Given the description of an element on the screen output the (x, y) to click on. 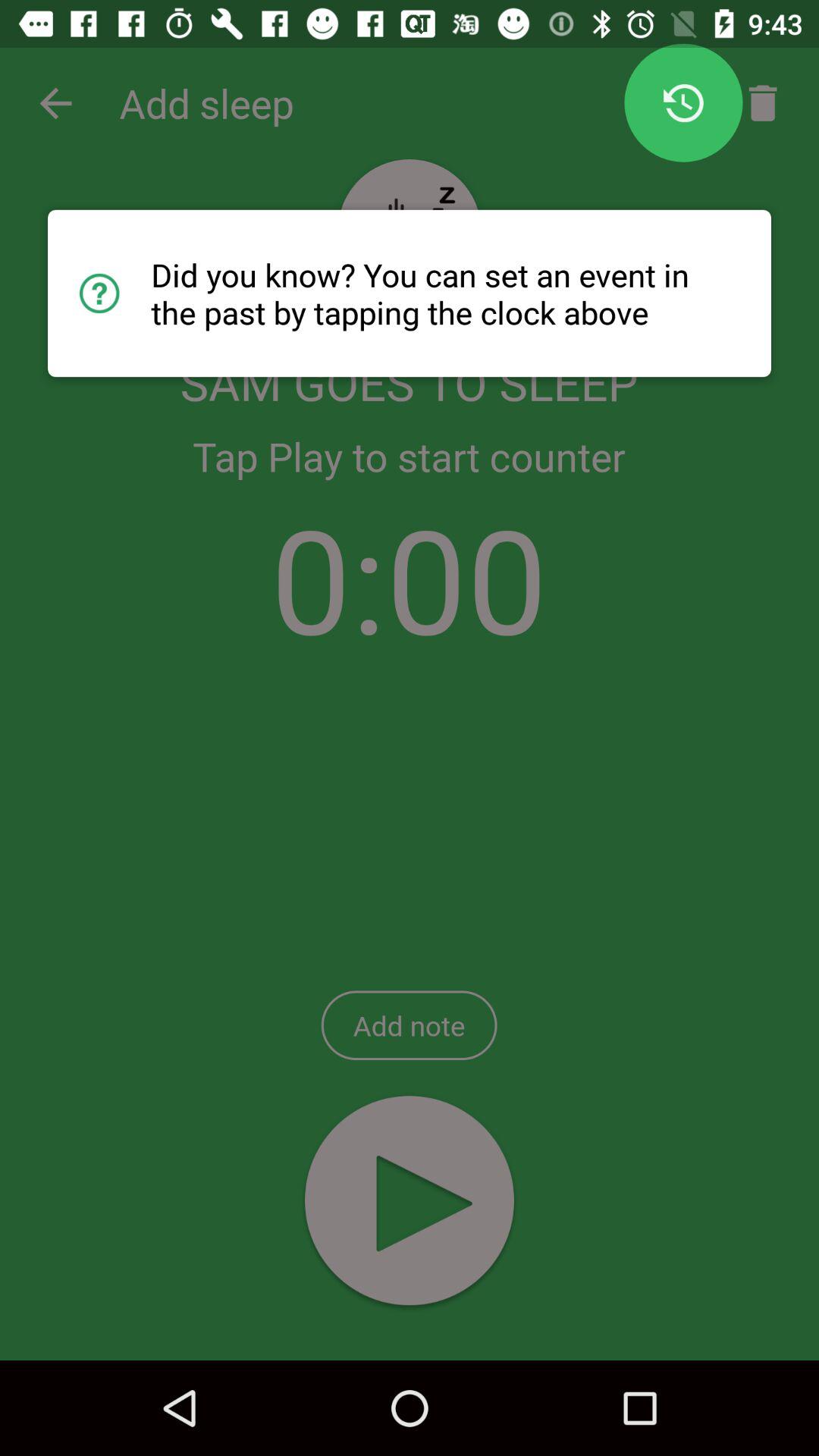
open 0:00 at the center (408, 577)
